Given the description of an element on the screen output the (x, y) to click on. 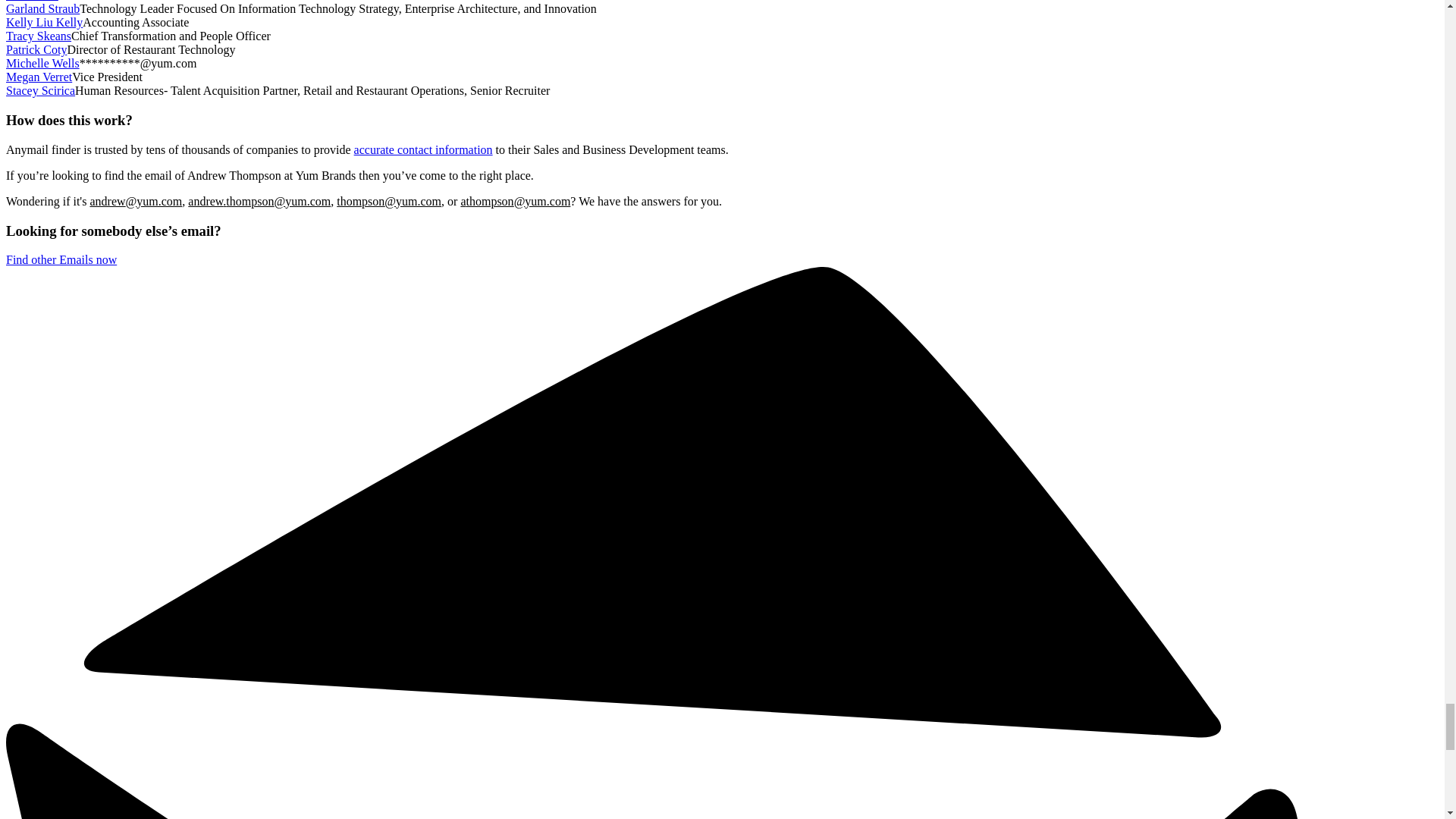
Kelly Liu Kelly (43, 21)
Patrick Coty (35, 49)
accurate contact information (423, 149)
Jason Graf (31, 0)
Garland Straub (42, 8)
Tracy Skeans (38, 35)
Michelle Wells (42, 62)
Megan Verret (38, 76)
Stacey Scirica (40, 90)
